Given the description of an element on the screen output the (x, y) to click on. 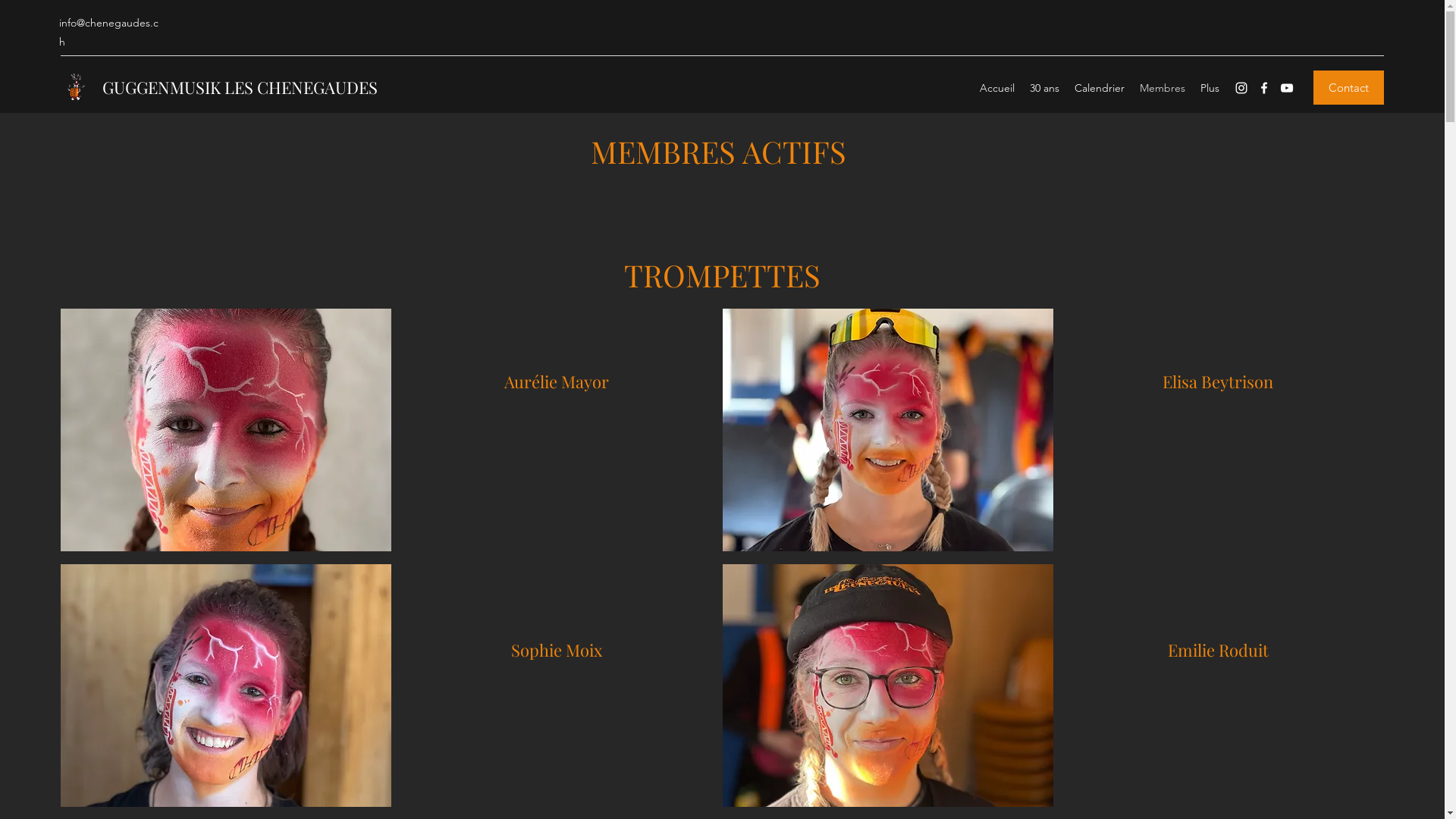
GUGGENMUSIK LES CHENEGAUDES Element type: text (239, 86)
info@chenegaudes.ch Element type: text (108, 31)
Calendrier Element type: text (1099, 87)
30 ans Element type: text (1044, 87)
Membres Element type: text (1162, 87)
Accueil Element type: text (997, 87)
Contact Element type: text (1348, 87)
